Given the description of an element on the screen output the (x, y) to click on. 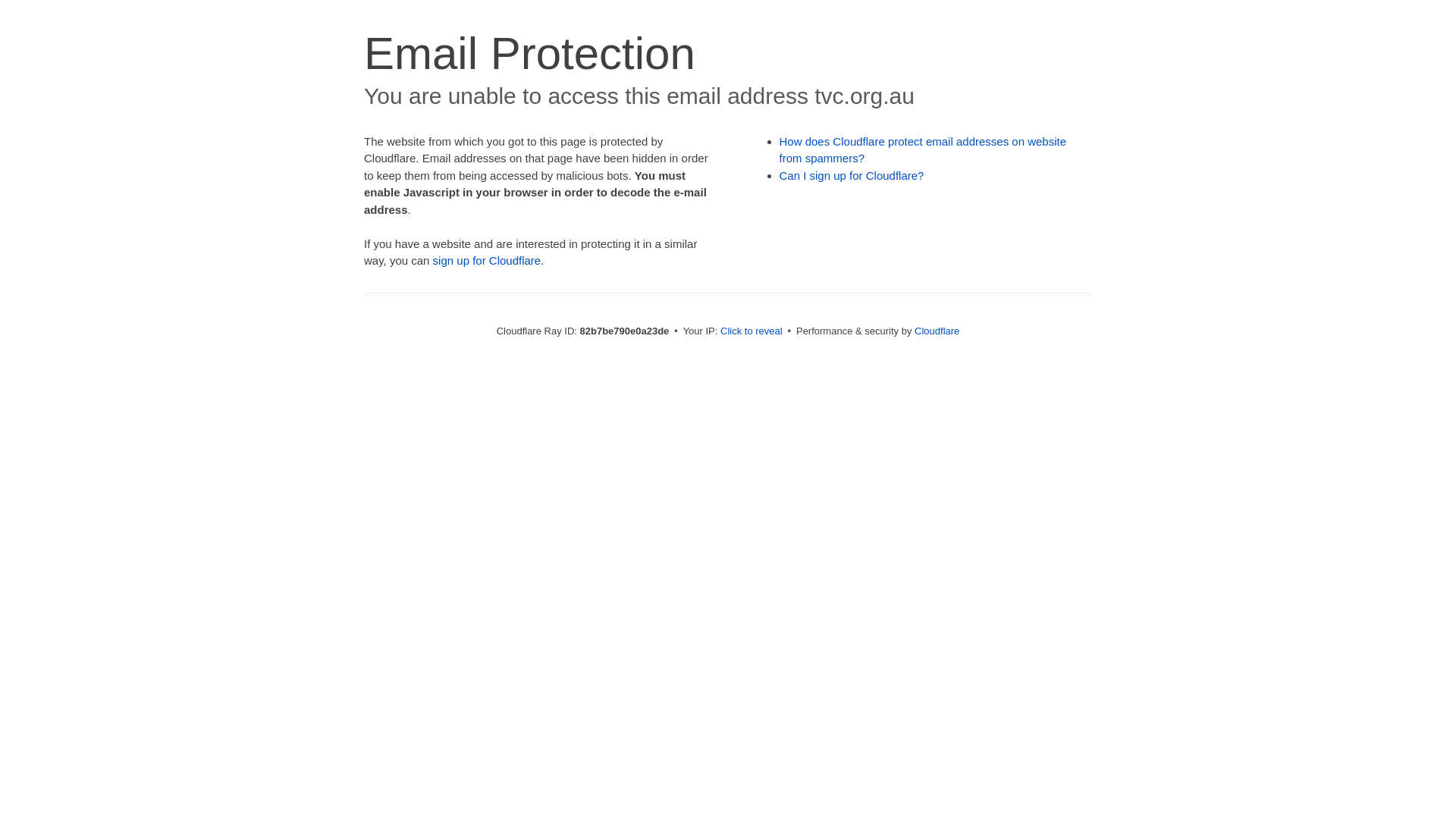
sign up for Cloudflare Element type: text (487, 260)
Click to reveal Element type: text (751, 330)
Cloudflare Element type: text (936, 330)
Can I sign up for Cloudflare? Element type: text (851, 175)
